Given the description of an element on the screen output the (x, y) to click on. 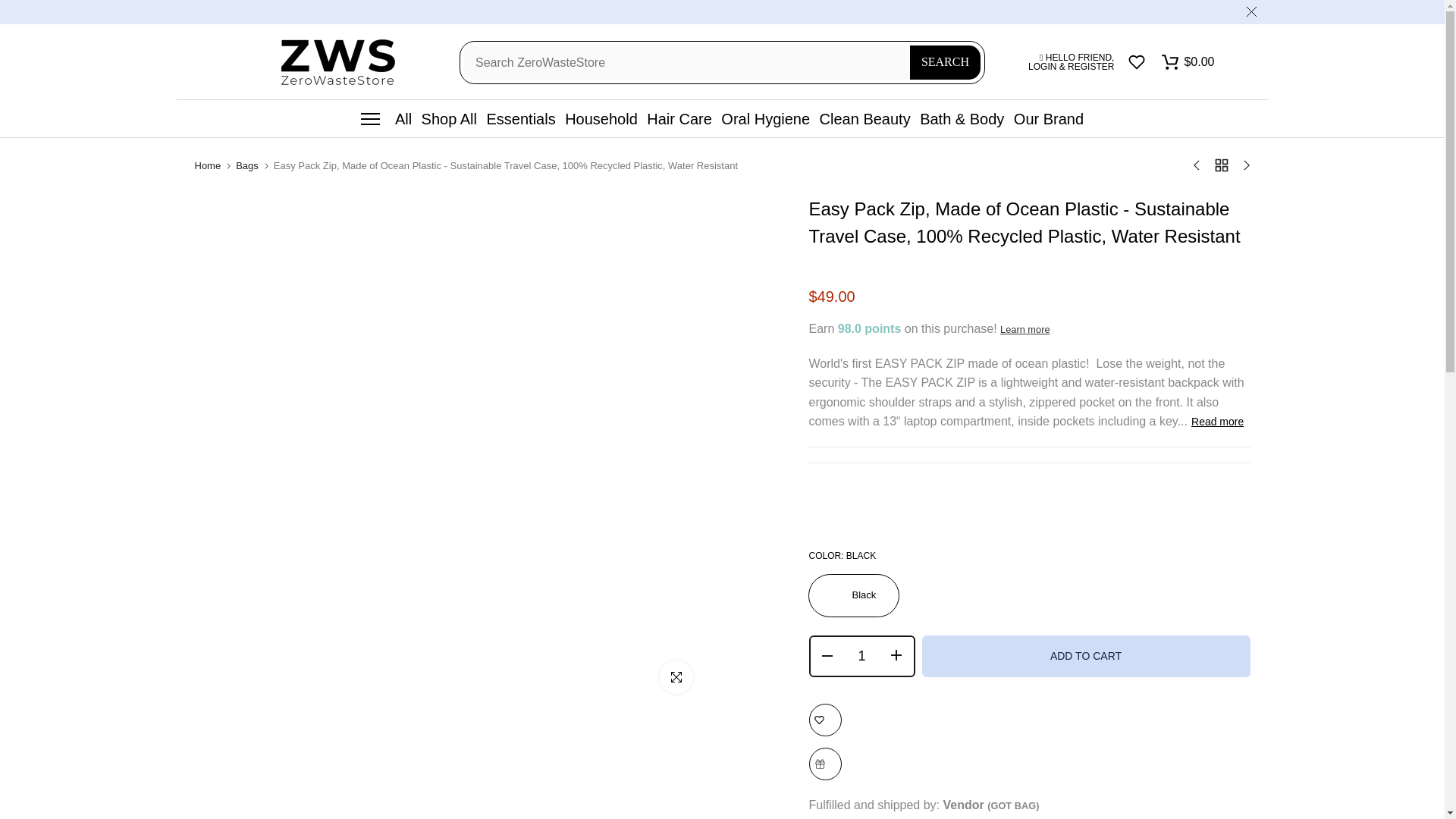
SEARCH (944, 62)
Skip to content (10, 7)
Our Brand (1049, 118)
Home (207, 165)
ADD TO CART (1085, 656)
Clean Beauty (864, 118)
Household (601, 118)
Bags (247, 165)
Read more (1217, 421)
All (386, 118)
